Given the description of an element on the screen output the (x, y) to click on. 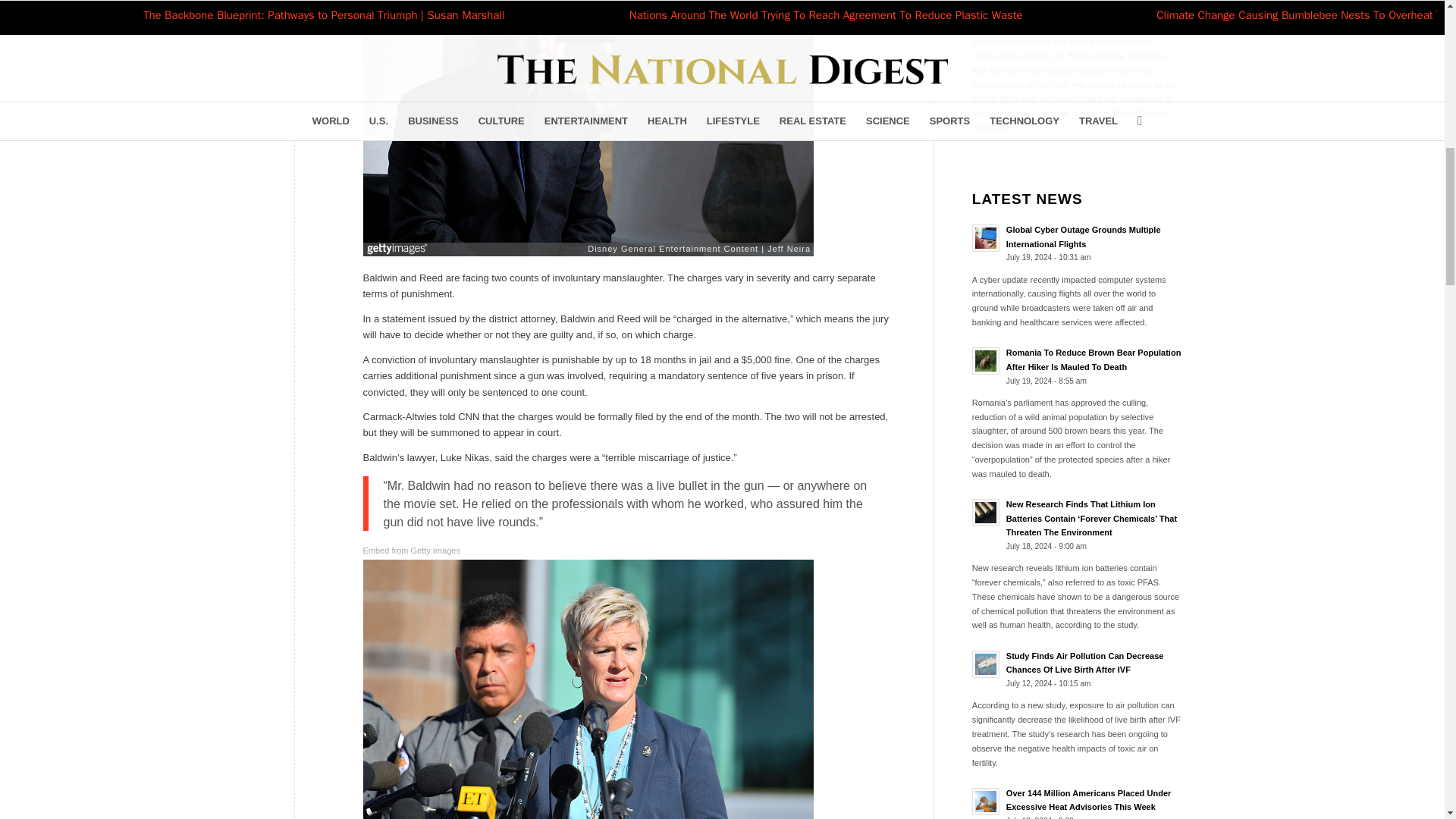
Embed from Getty Images (411, 550)
